Given the description of an element on the screen output the (x, y) to click on. 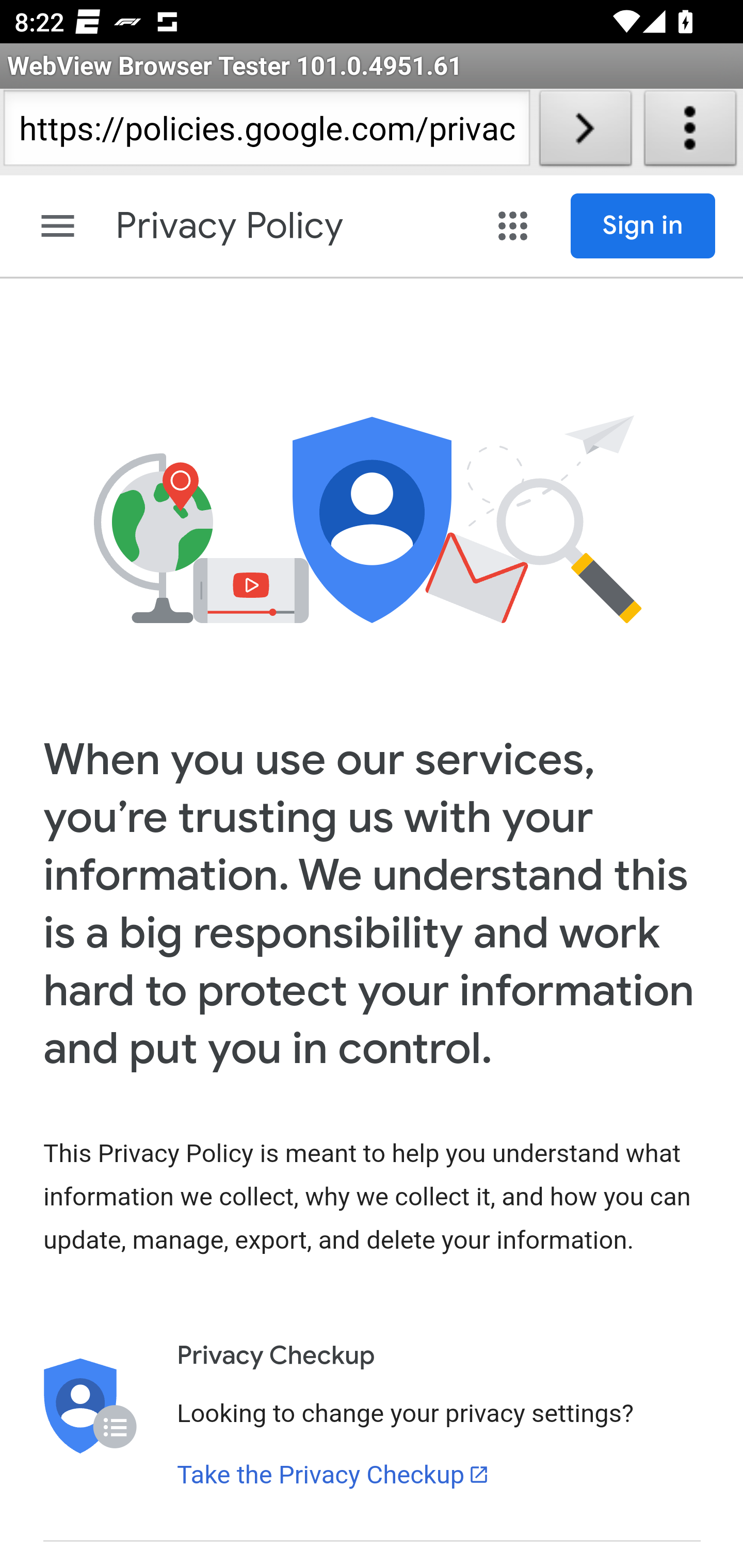
https://policies.google.com/privacy?gl=HK&hl=en (266, 132)
Load URL (585, 132)
About WebView (690, 132)
Main menu (58, 226)
Google apps (514, 226)
Sign in (643, 226)
Take the Privacy Checkup (333, 1474)
